Given the description of an element on the screen output the (x, y) to click on. 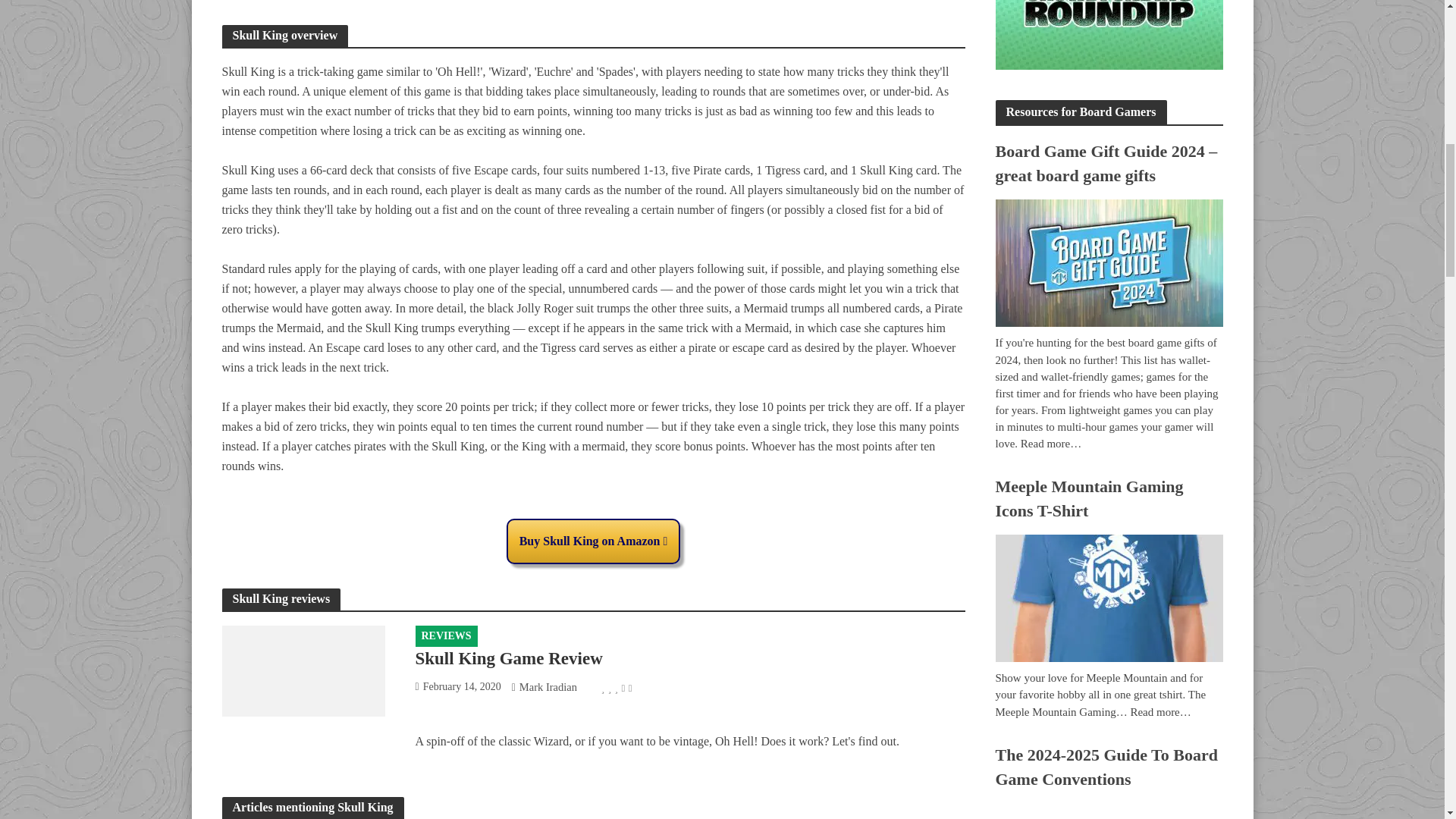
Skull King Game Review (302, 669)
